Given the description of an element on the screen output the (x, y) to click on. 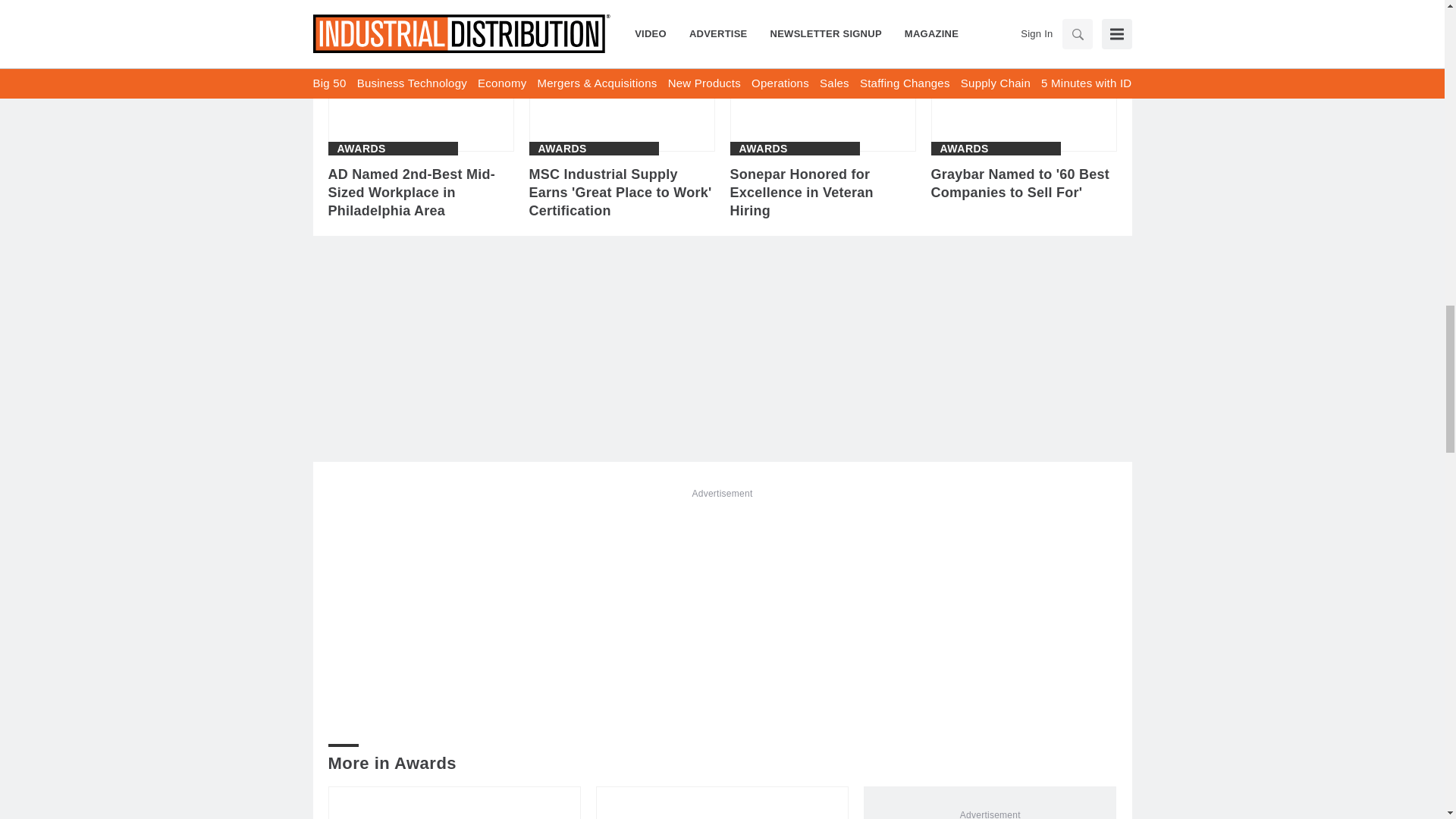
Awards (562, 148)
Awards (964, 148)
Awards (762, 148)
Awards (360, 148)
